Given the description of an element on the screen output the (x, y) to click on. 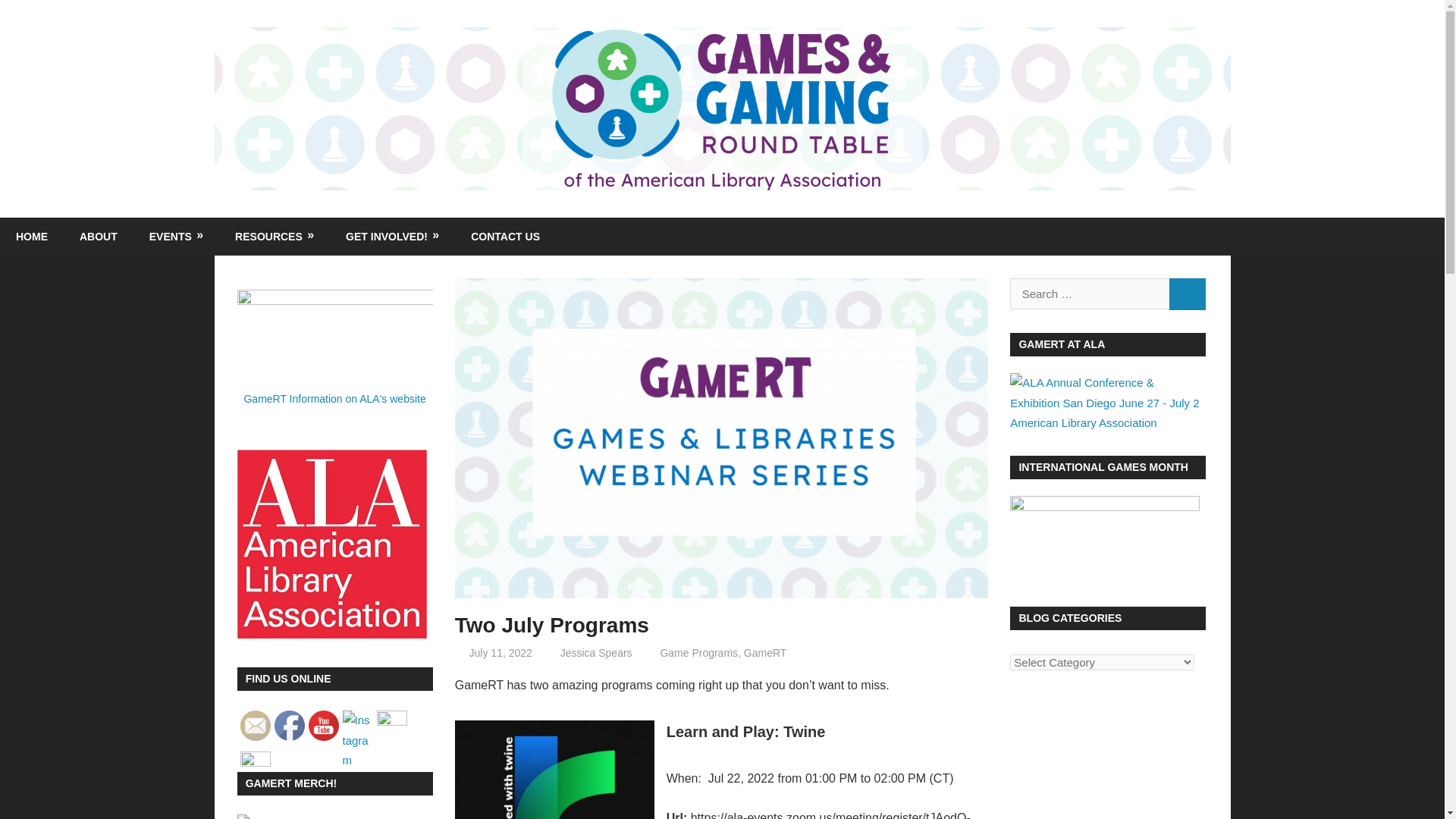
GameRT (765, 653)
ABOUT (98, 236)
View all posts by Jessica Spears (595, 653)
July 11, 2022 (500, 653)
CONTACT US (505, 236)
HOME (32, 236)
RESOURCES (274, 236)
11:03 pm (500, 653)
EVENTS (176, 236)
Subscribe to blog (254, 725)
